Given the description of an element on the screen output the (x, y) to click on. 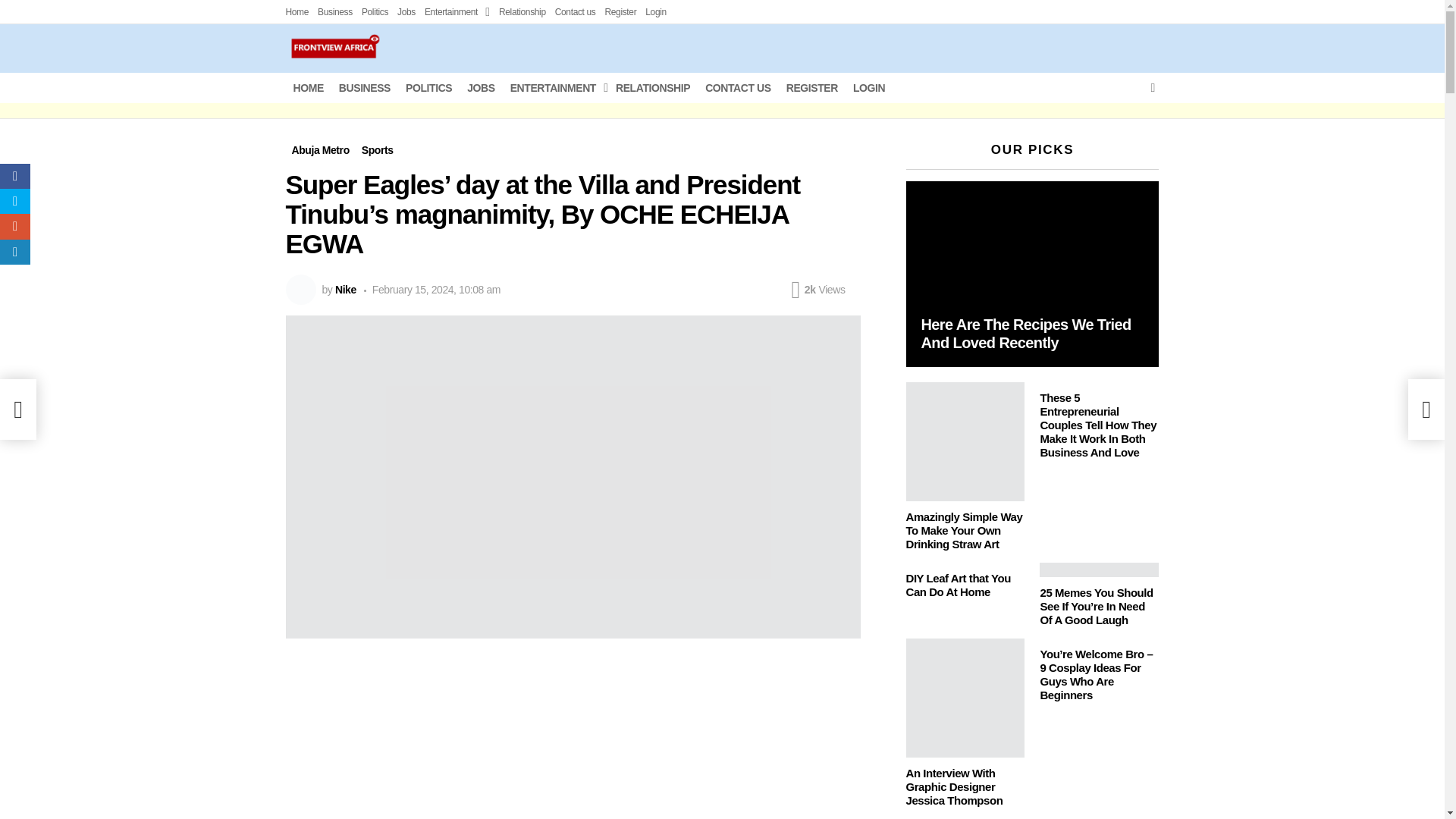
RELATIONSHIP (652, 87)
JOBS (481, 87)
CONTACT US (737, 87)
Nike (345, 289)
Politics (374, 12)
LOGIN (868, 87)
Contact us (574, 12)
REGISTER (811, 87)
BUSINESS (364, 87)
Business (334, 12)
Home (296, 12)
Posts by Nike (345, 289)
Abuja Metro (320, 149)
Entertainment (457, 12)
Register (620, 12)
